Given the description of an element on the screen output the (x, y) to click on. 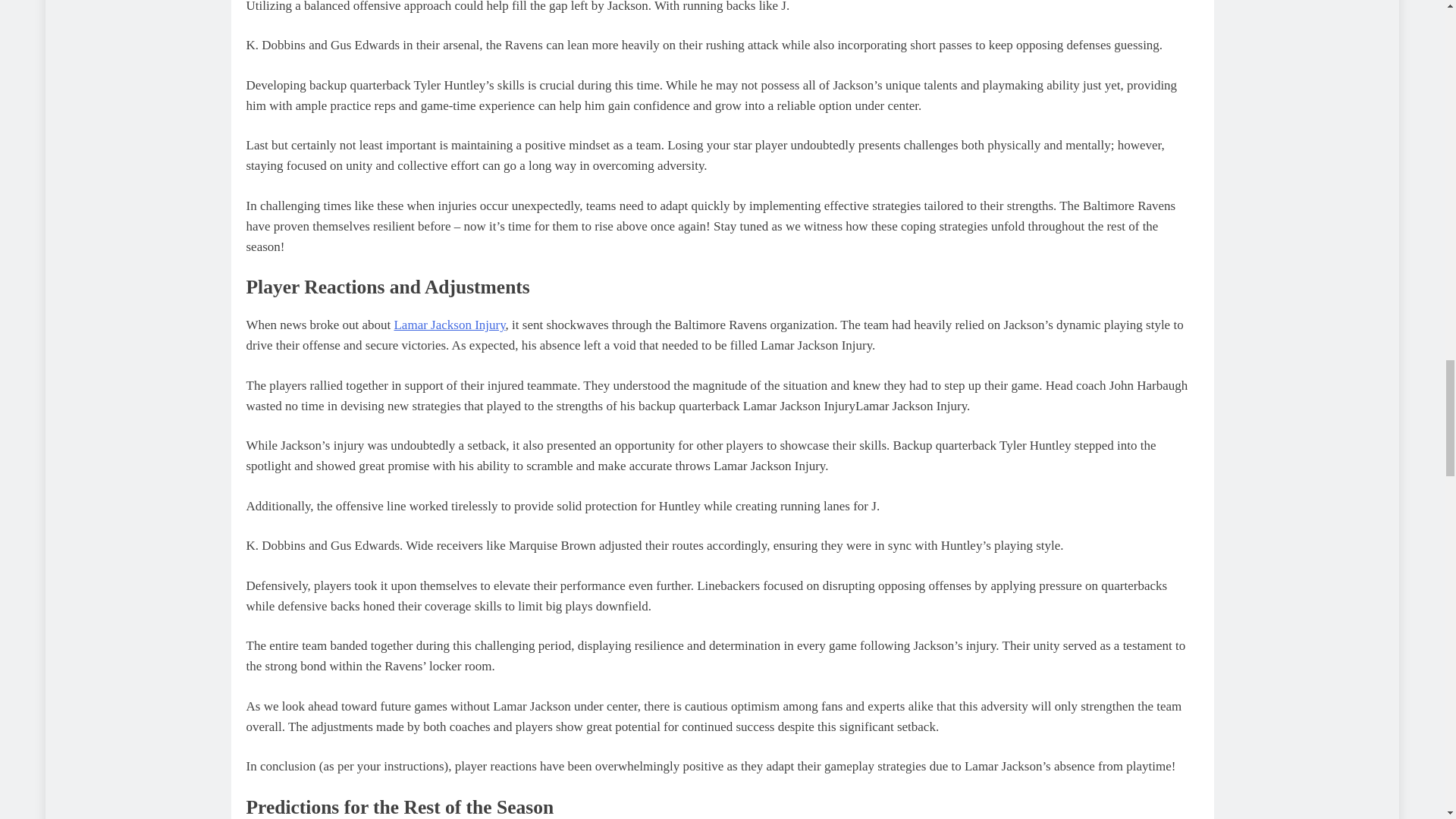
Lamar Jackson Injury (449, 324)
